Given the description of an element on the screen output the (x, y) to click on. 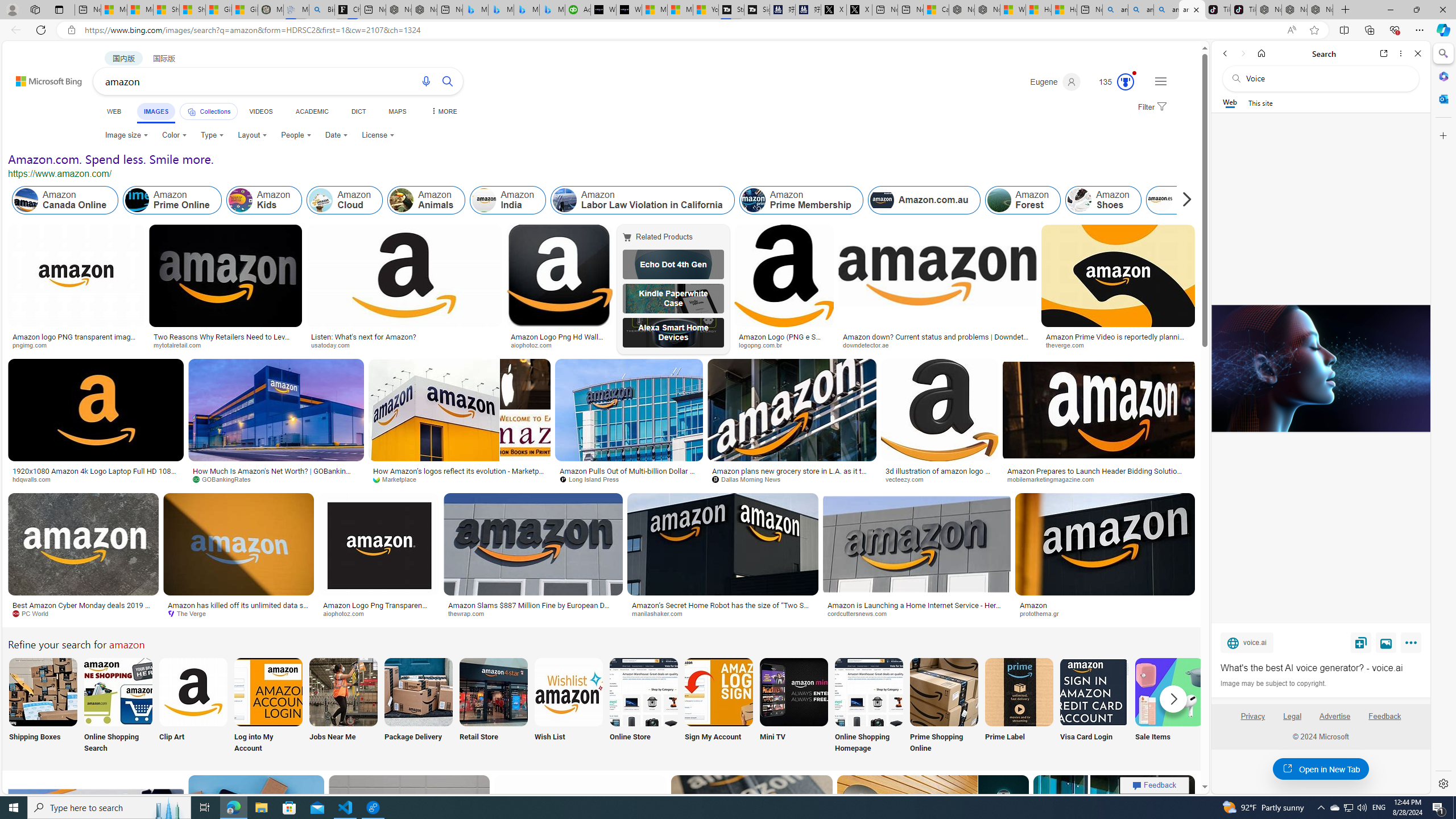
VIDEOS (260, 111)
Nordace - #1 Japanese Best-Seller - Siena Smart Backpack (424, 9)
thewrap.com (533, 613)
Amazon Log into My Account (268, 691)
Amazon Canada Online (65, 199)
Amazon Spain (1183, 199)
Side bar (1443, 418)
